Given the description of an element on the screen output the (x, y) to click on. 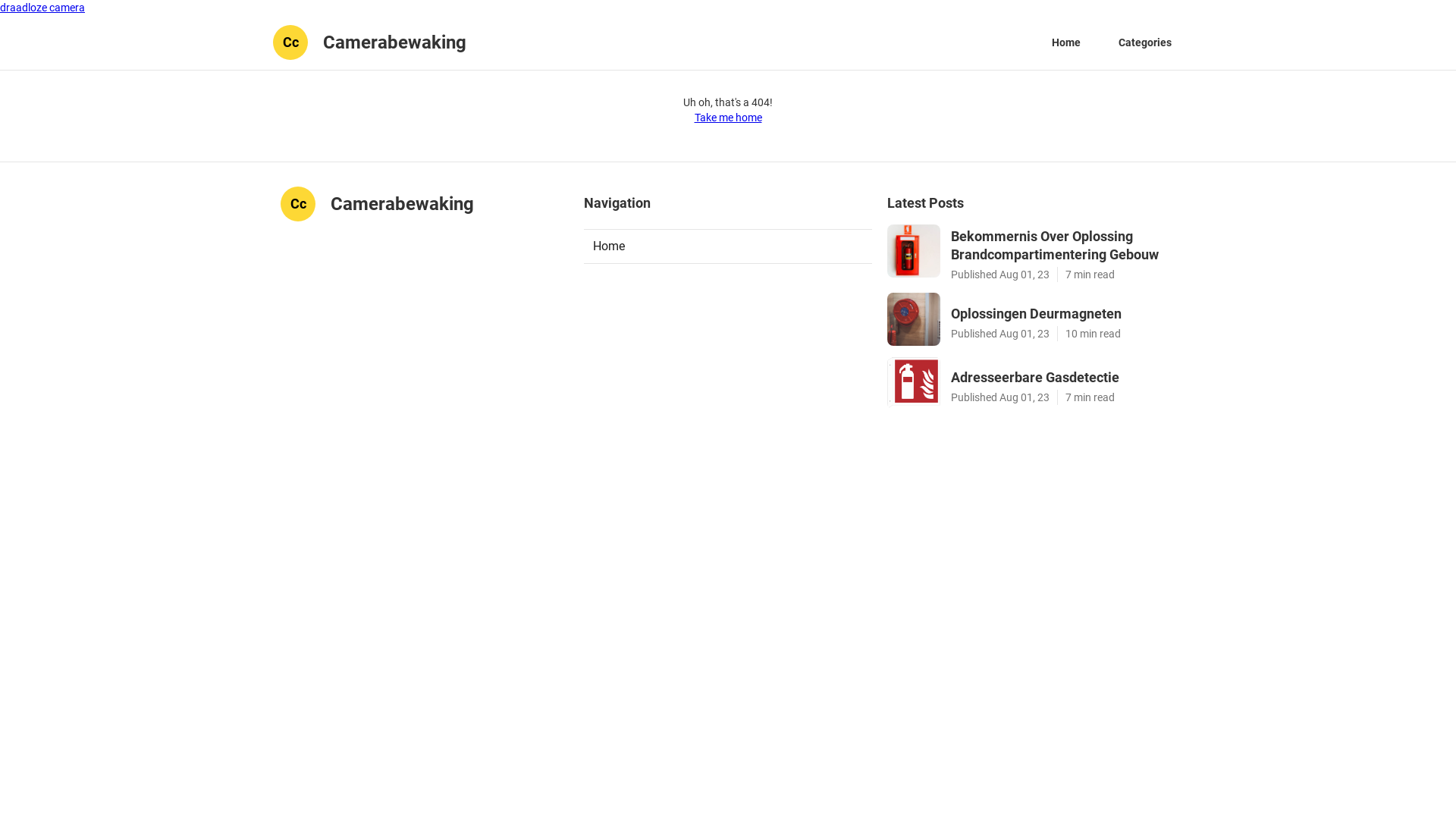
Home Element type: text (727, 246)
Take me home Element type: text (728, 117)
Bekommernis Over Oplossing Brandcompartimentering Gebouw Element type: text (1062, 245)
Adresseerbare Gasdetectie Element type: text (1062, 377)
Categories Element type: text (1145, 42)
Home Element type: text (1066, 42)
Oplossingen Deurmagneten Element type: text (1062, 313)
draadloze camera Element type: text (42, 7)
